Given the description of an element on the screen output the (x, y) to click on. 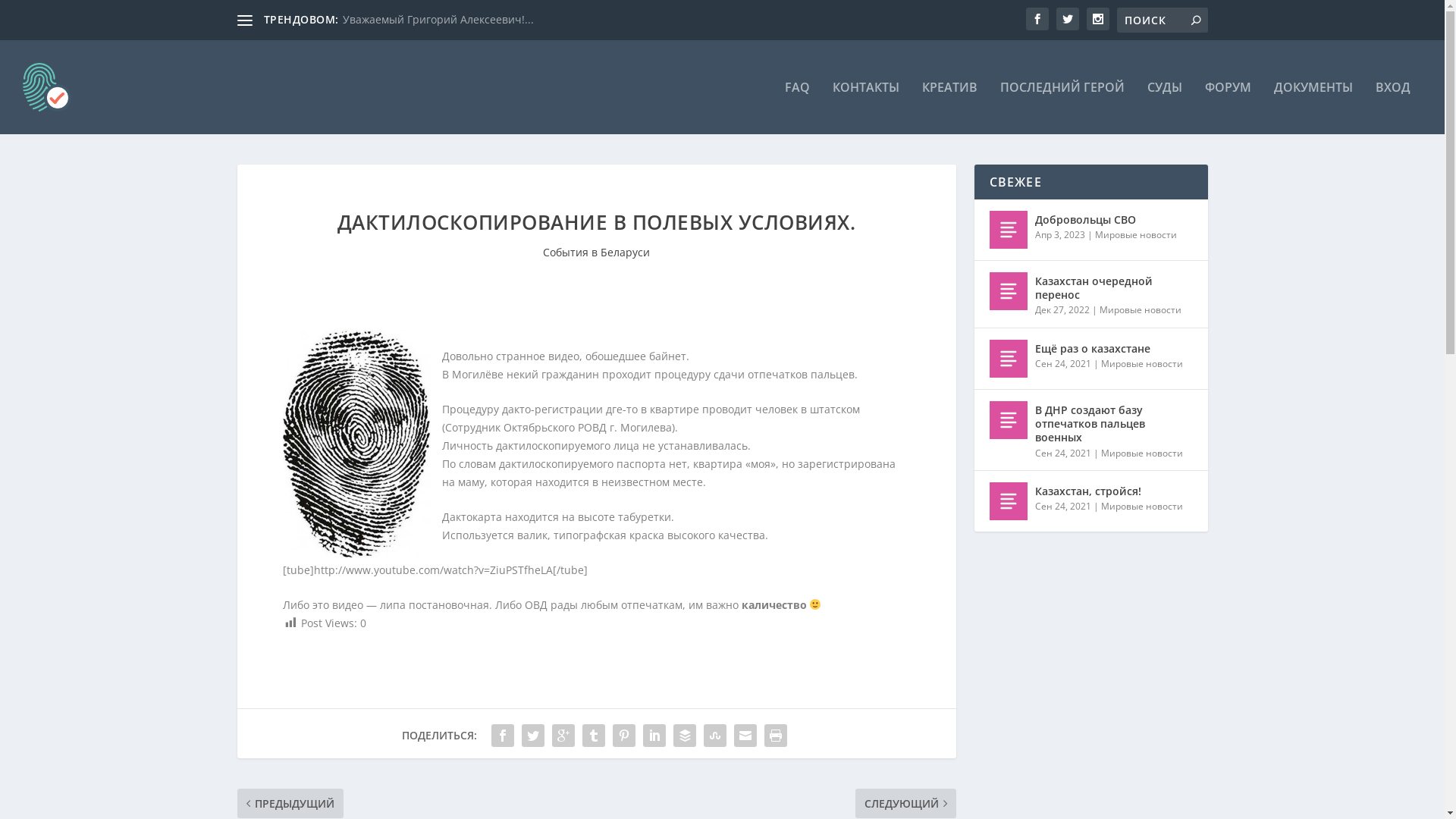
FAQ Element type: text (796, 107)
fingerprint-illusions-6 Element type: hover (355, 443)
